Given the description of an element on the screen output the (x, y) to click on. 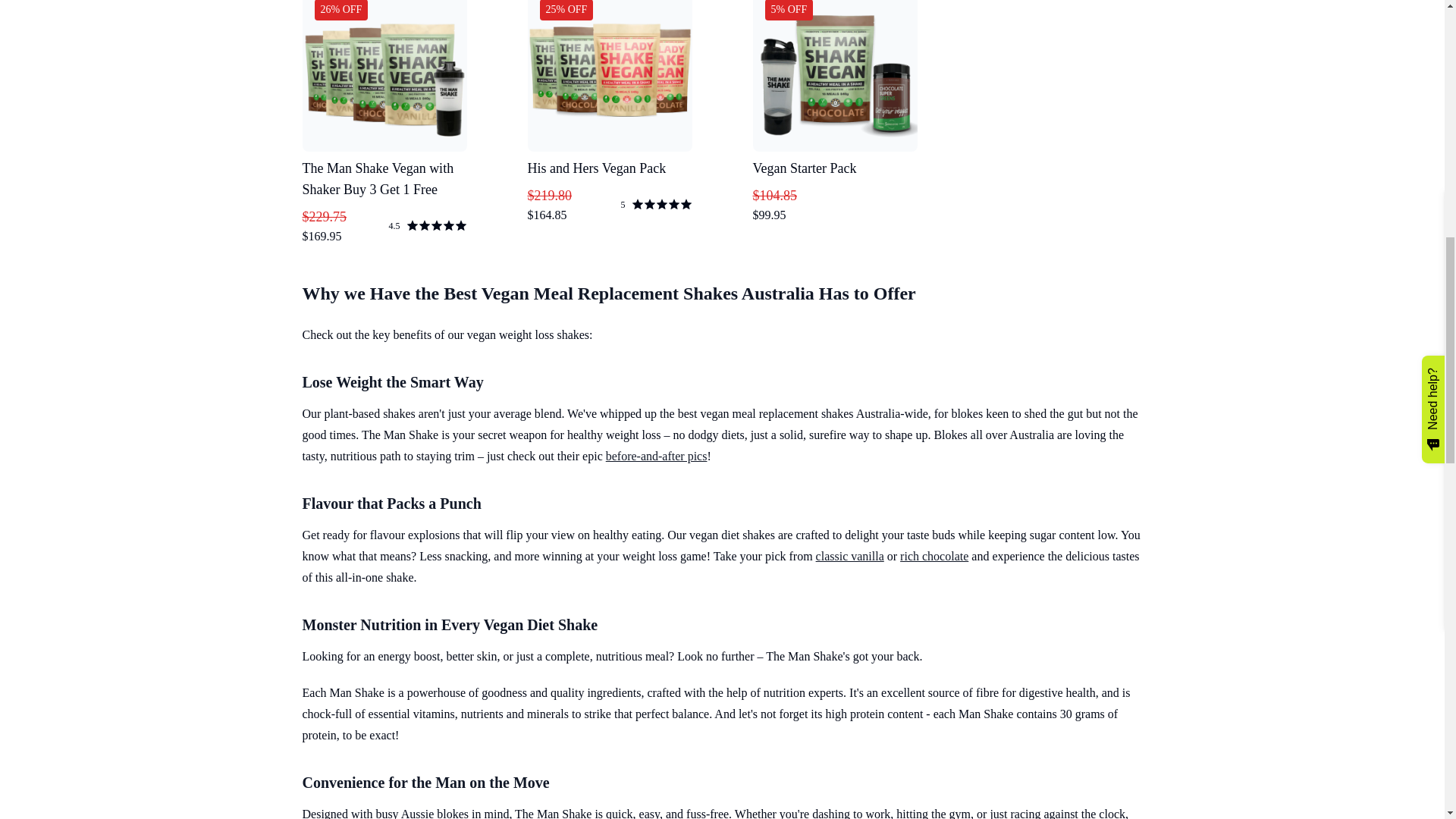
before-and-after pics (656, 455)
classic vanilla (849, 555)
rich chocolate (933, 555)
